Given the description of an element on the screen output the (x, y) to click on. 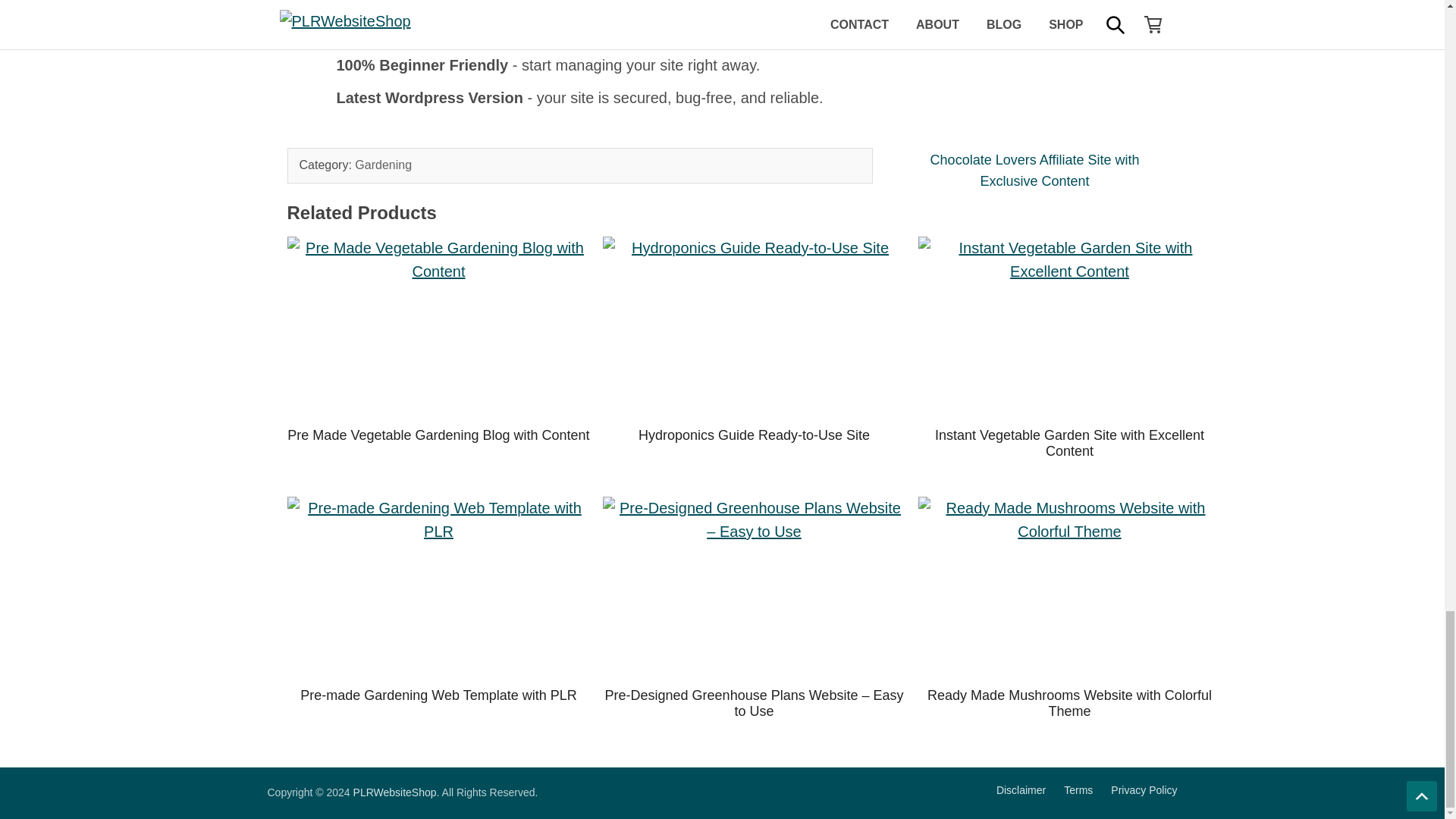
Pre Made Vegetable Gardening Blog with Content (437, 327)
Instant Vegetable Garden Site with Excellent Content (1069, 443)
Pre-made Gardening Web Template with PLR (437, 587)
Pre-made Gardening Web Template with PLR (437, 694)
Hydroponics Guide Ready-to-Use Site (753, 327)
Instant Vegetable Garden Site with Excellent Content (1069, 327)
Hydroponics Guide Ready-to-Use Site (754, 435)
Pre Made Vegetable Gardening Blog with Content (437, 435)
Gardening (383, 164)
Ready Made Mushrooms Website with Colorful Theme (1069, 587)
